Given the description of an element on the screen output the (x, y) to click on. 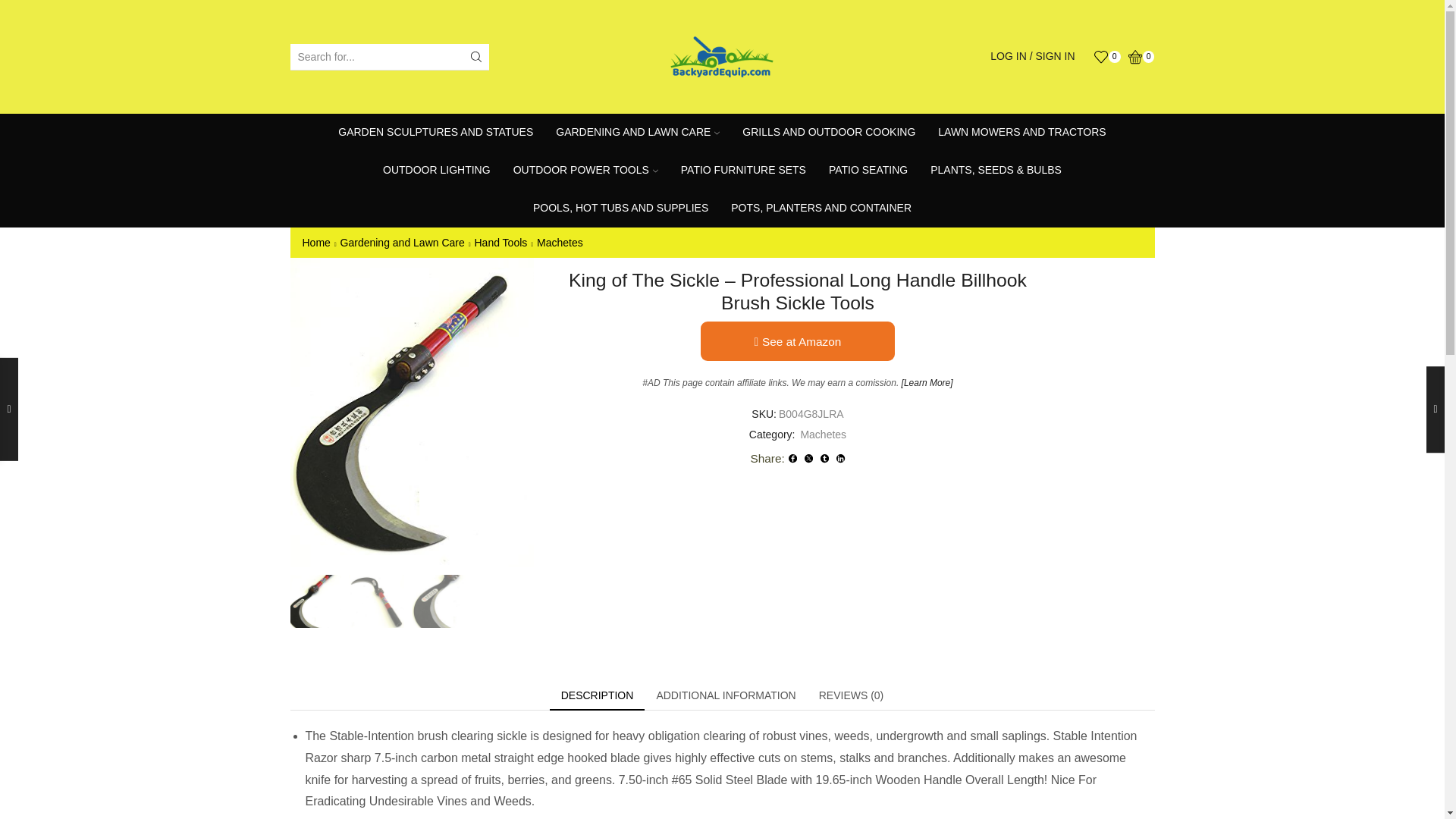
OUTDOOR POWER TOOLS (585, 170)
Log in (960, 267)
LAWN MOWERS AND TRACTORS (1021, 132)
0 (1141, 56)
GARDEN SCULPTURES AND STATUES (435, 132)
GARDENING AND LAWN CARE (637, 132)
OUTDOOR LIGHTING (436, 170)
GRILLS AND OUTDOOR COOKING (828, 132)
0 (1107, 56)
